Given the description of an element on the screen output the (x, y) to click on. 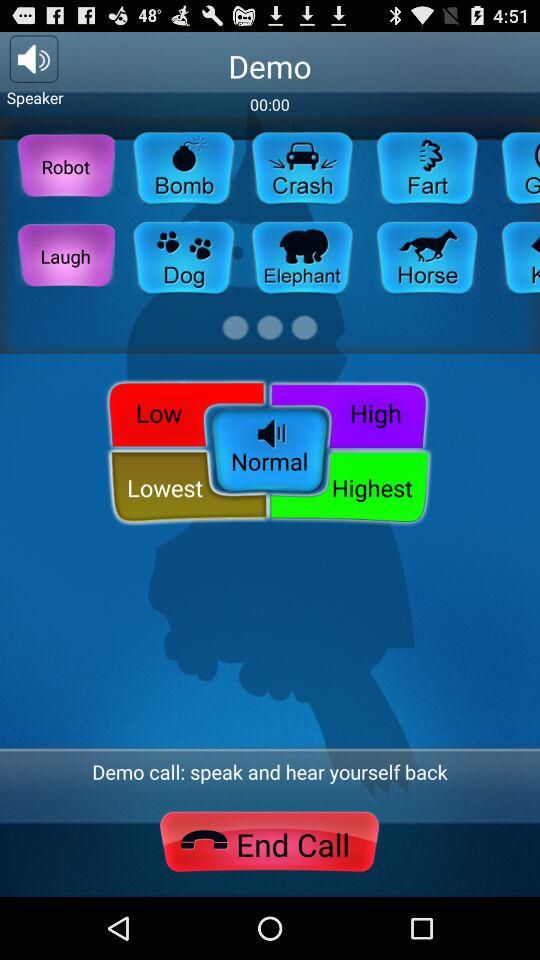
click icon next to high item (181, 412)
